Given the description of an element on the screen output the (x, y) to click on. 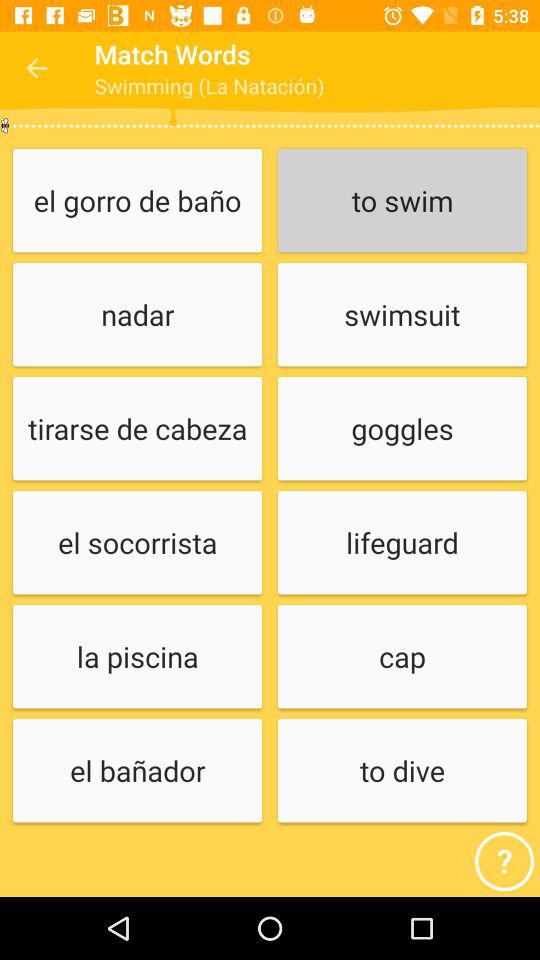
choose icon below the lifeguard icon (402, 657)
